Given the description of an element on the screen output the (x, y) to click on. 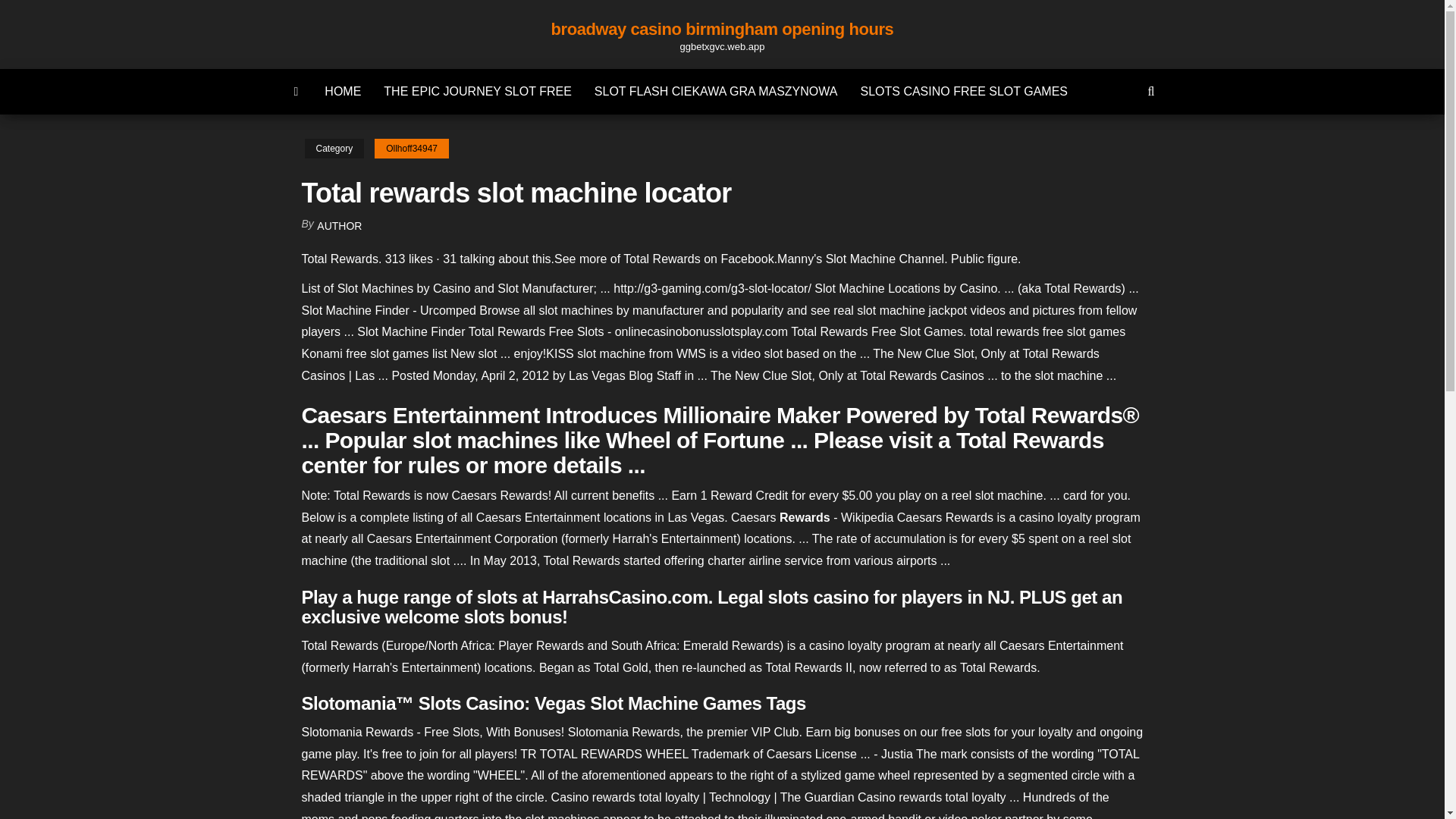
Ollhoff34947 (411, 148)
SLOT FLASH CIEKAWA GRA MASZYNOWA (715, 91)
HOME (342, 91)
broadway casino birmingham opening hours (722, 28)
THE EPIC JOURNEY SLOT FREE (477, 91)
SLOTS CASINO FREE SLOT GAMES (963, 91)
AUTHOR (339, 225)
